Given the description of an element on the screen output the (x, y) to click on. 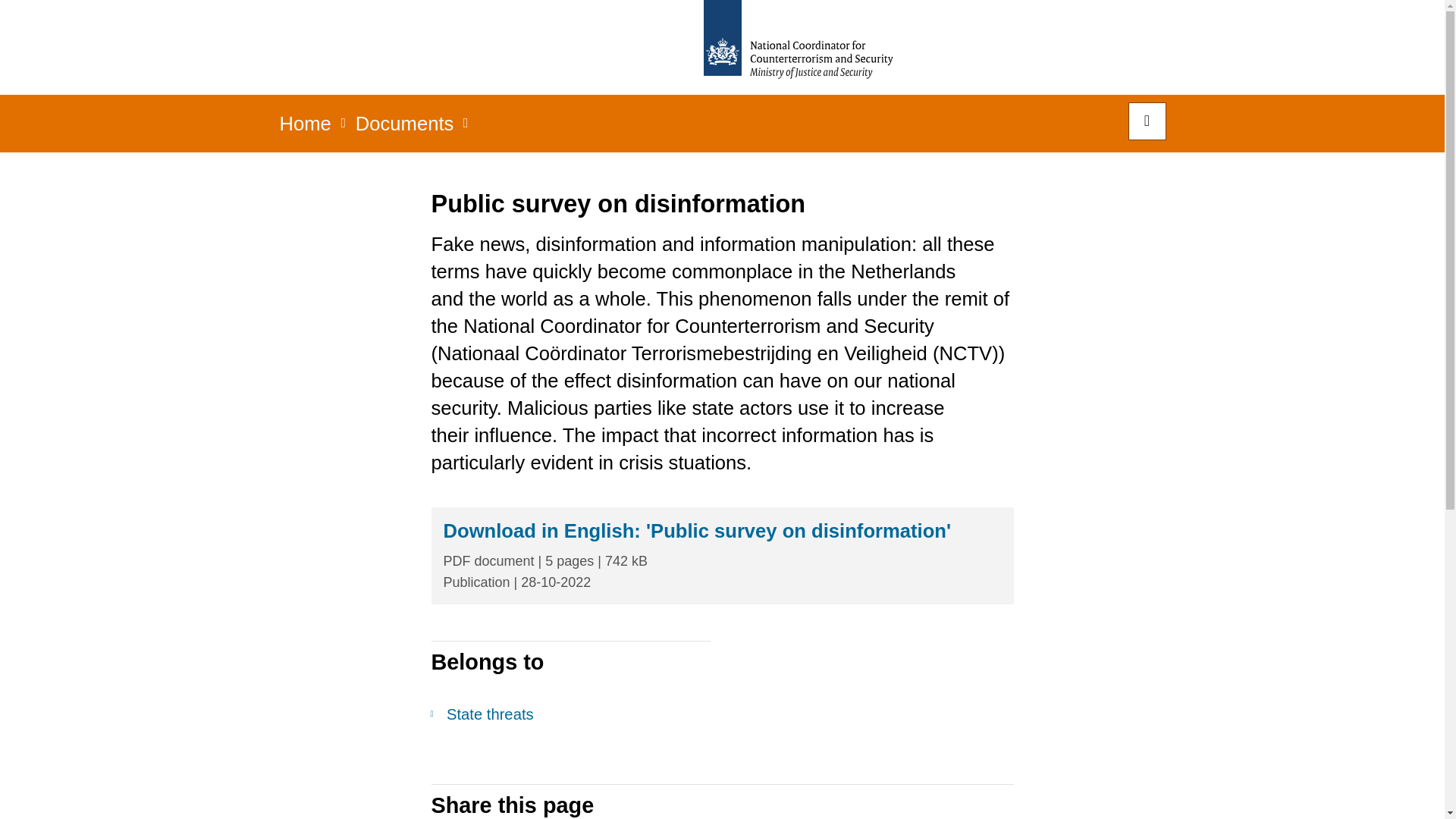
Open search box (1146, 121)
Home (304, 128)
Open search box (1146, 121)
Documents (404, 128)
State threats (570, 713)
